Given the description of an element on the screen output the (x, y) to click on. 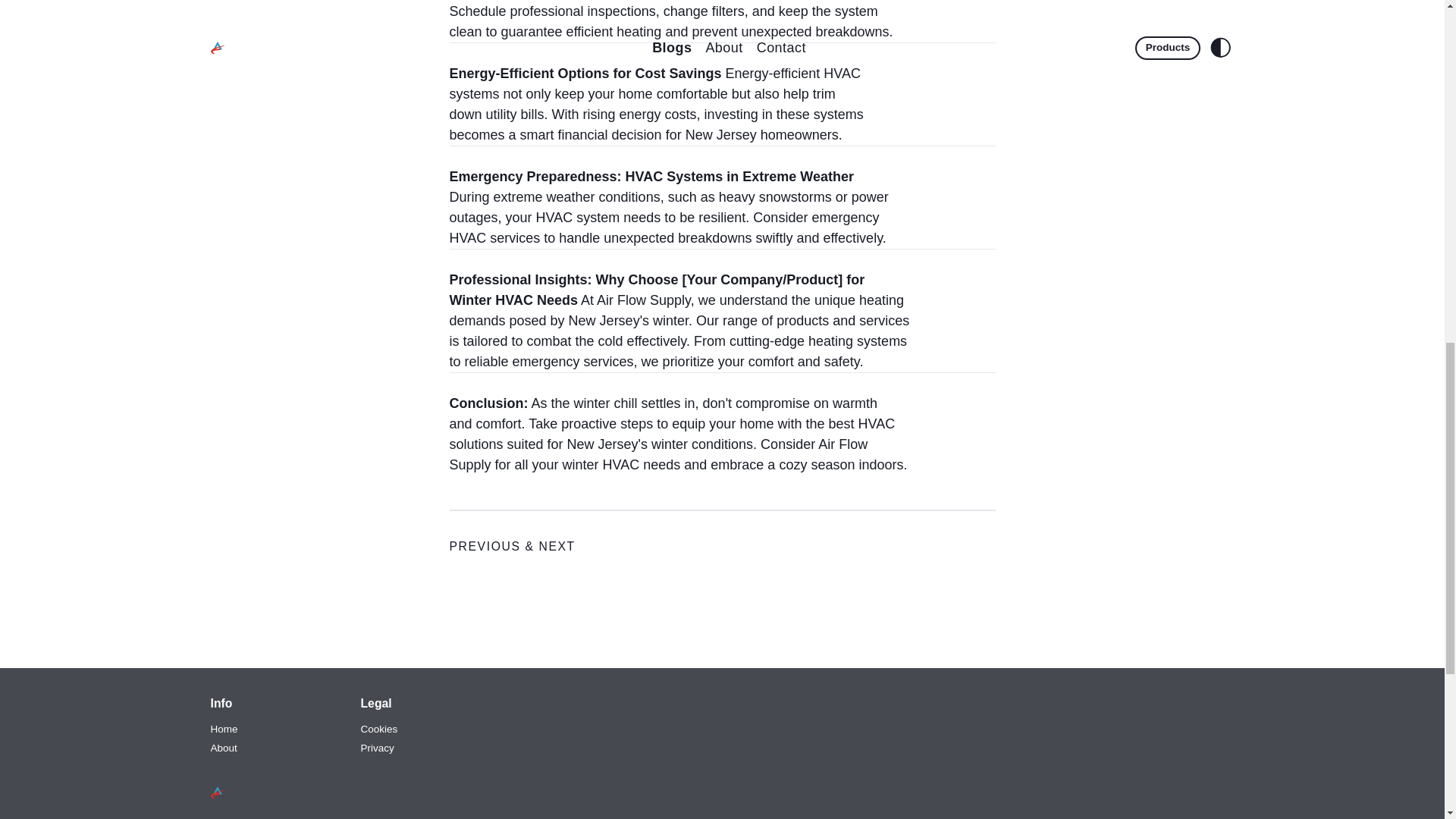
Home (224, 729)
Cookies (379, 729)
About (224, 748)
Privacy (377, 748)
